Given the description of an element on the screen output the (x, y) to click on. 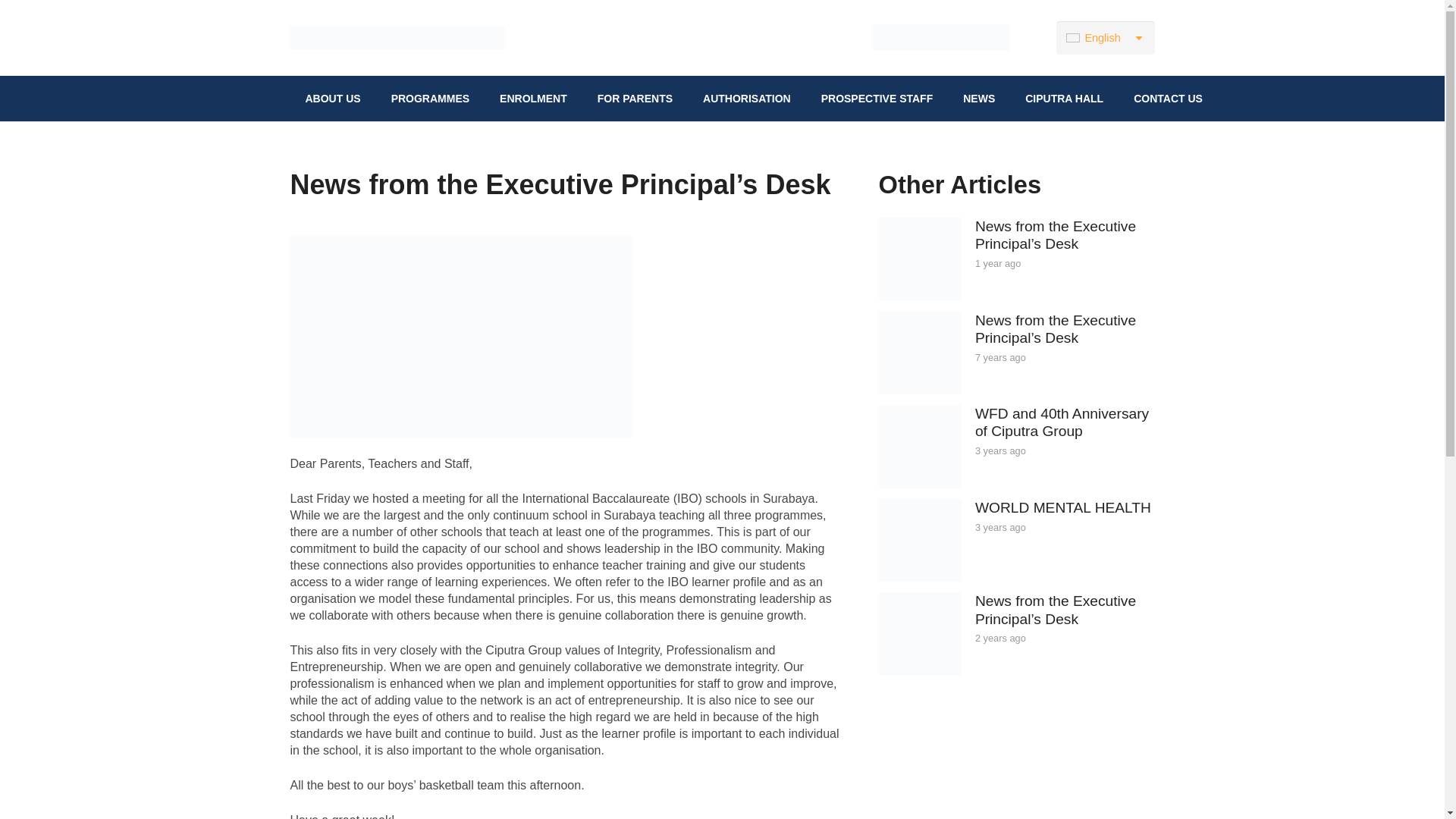
PROGRAMMES (429, 98)
English (1105, 38)
ENROLMENT (533, 98)
FOR PARENTS (634, 98)
ABOUT US (332, 98)
